Given the description of an element on the screen output the (x, y) to click on. 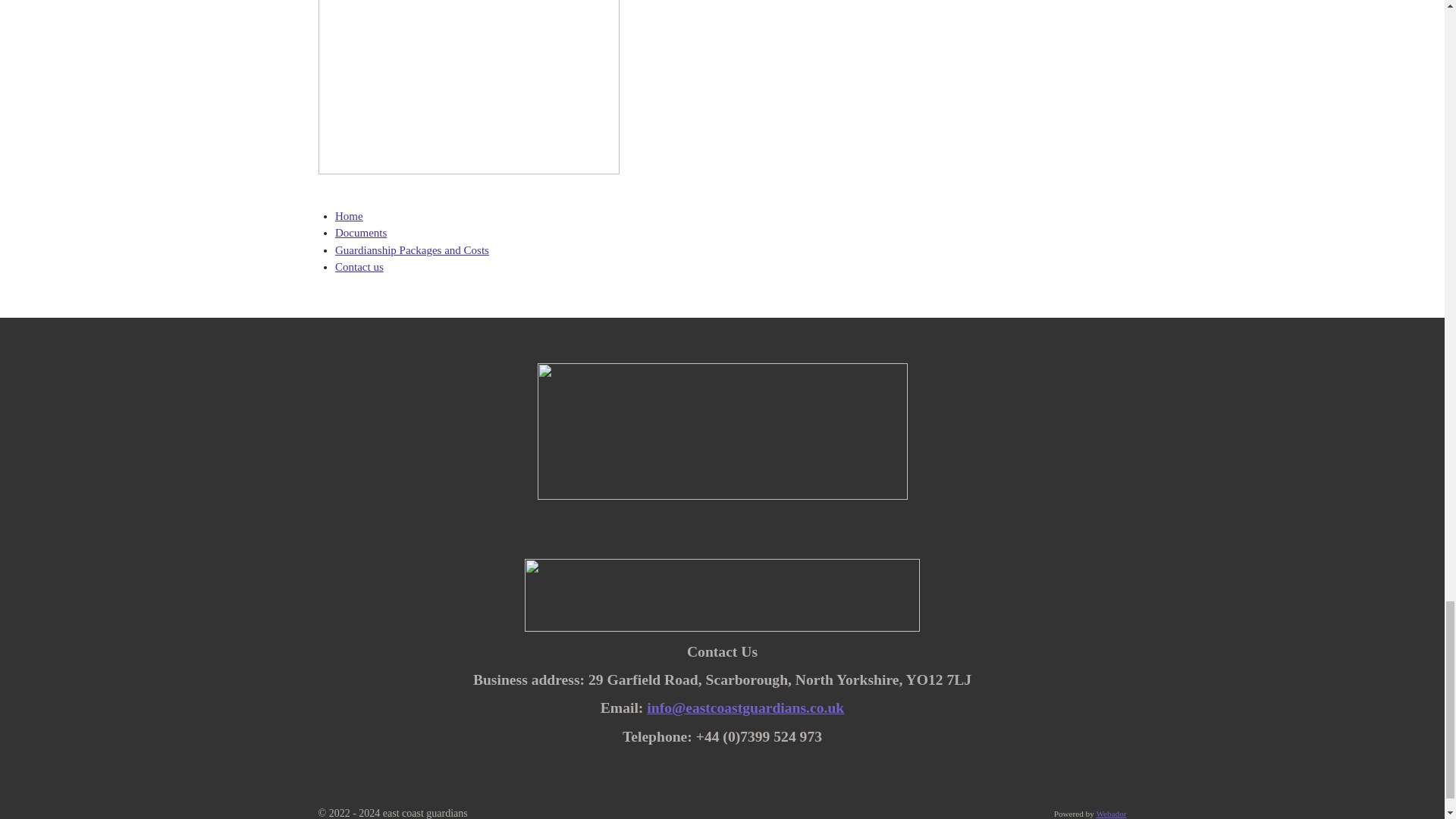
Webador (1110, 813)
Contact us (359, 266)
Documents (360, 232)
Guardianship Packages and Costs (411, 250)
Home (348, 215)
